Given the description of an element on the screen output the (x, y) to click on. 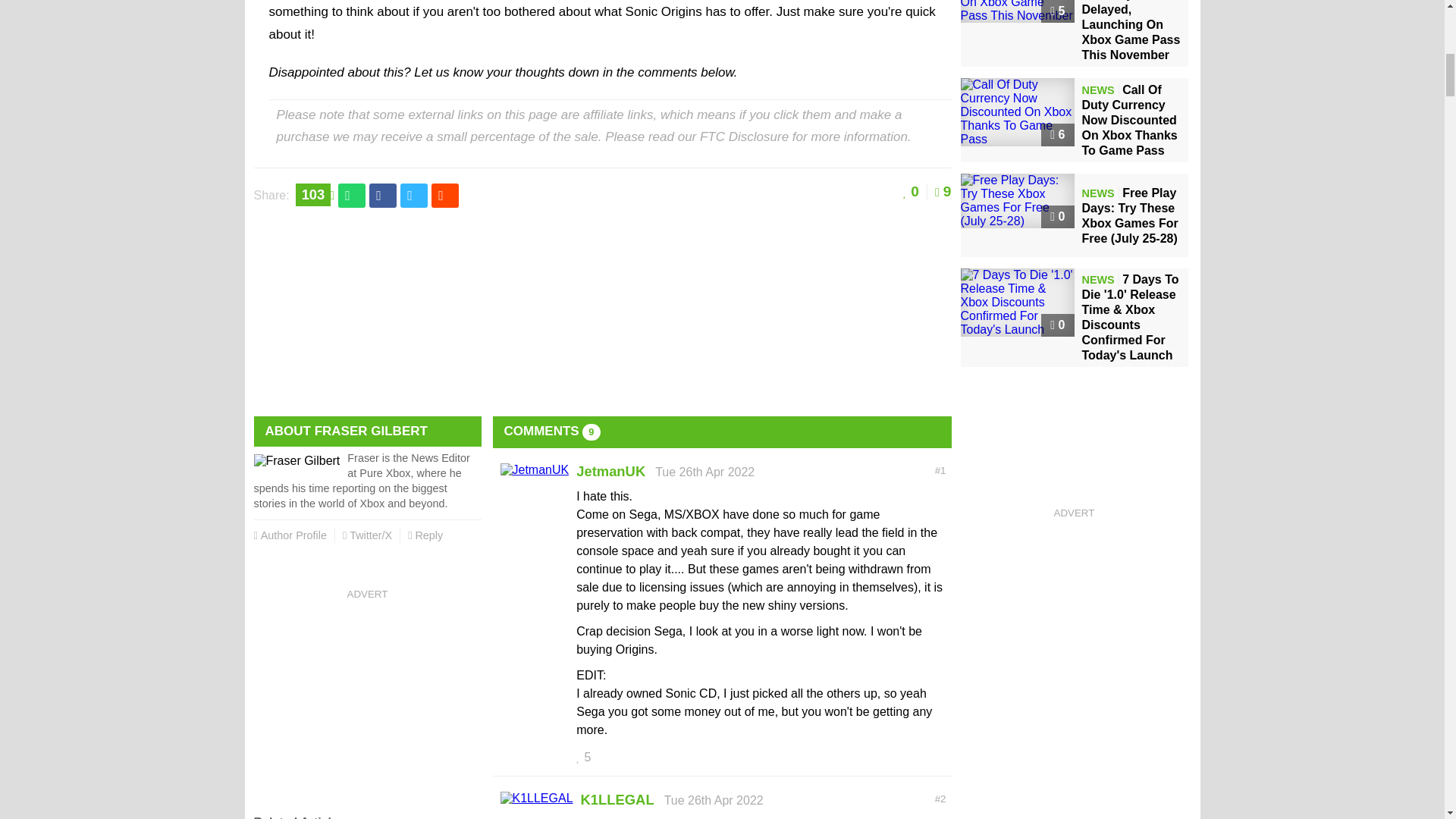
Share this on Facebook (382, 195)
Share this on Twitter (414, 195)
Share this on WhatsApp (351, 195)
Share this on Reddit (444, 195)
